Given the description of an element on the screen output the (x, y) to click on. 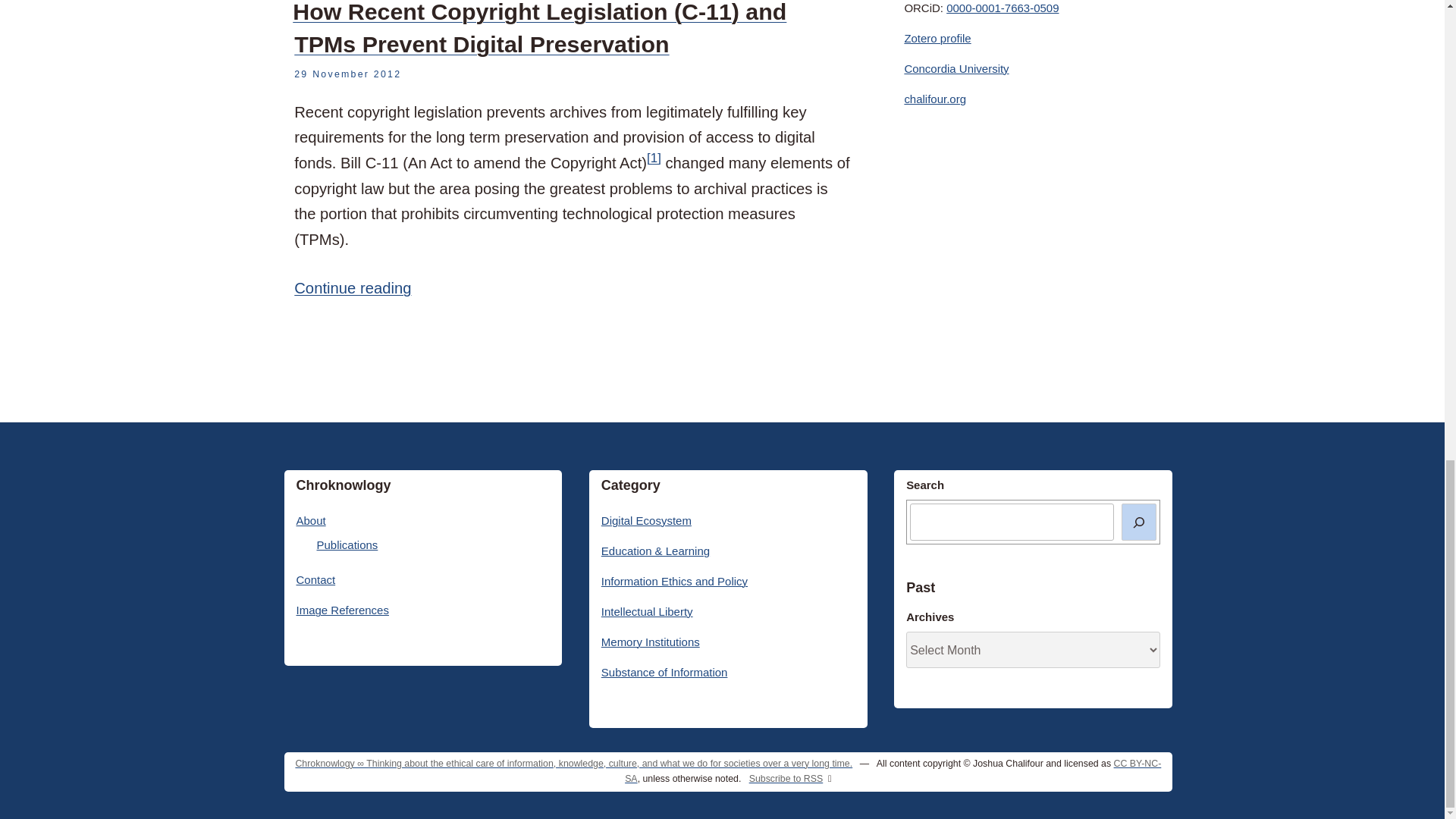
Contact (314, 579)
About (309, 520)
Zotero profile (937, 38)
0000-0001-7663-0509 (1002, 7)
Concordia University (956, 68)
Digital Ecosystem (646, 520)
Chroknowlogy (573, 763)
Publications (347, 544)
29 November 2012 (347, 73)
Image References (341, 609)
chalifour.org (935, 98)
